Given the description of an element on the screen output the (x, y) to click on. 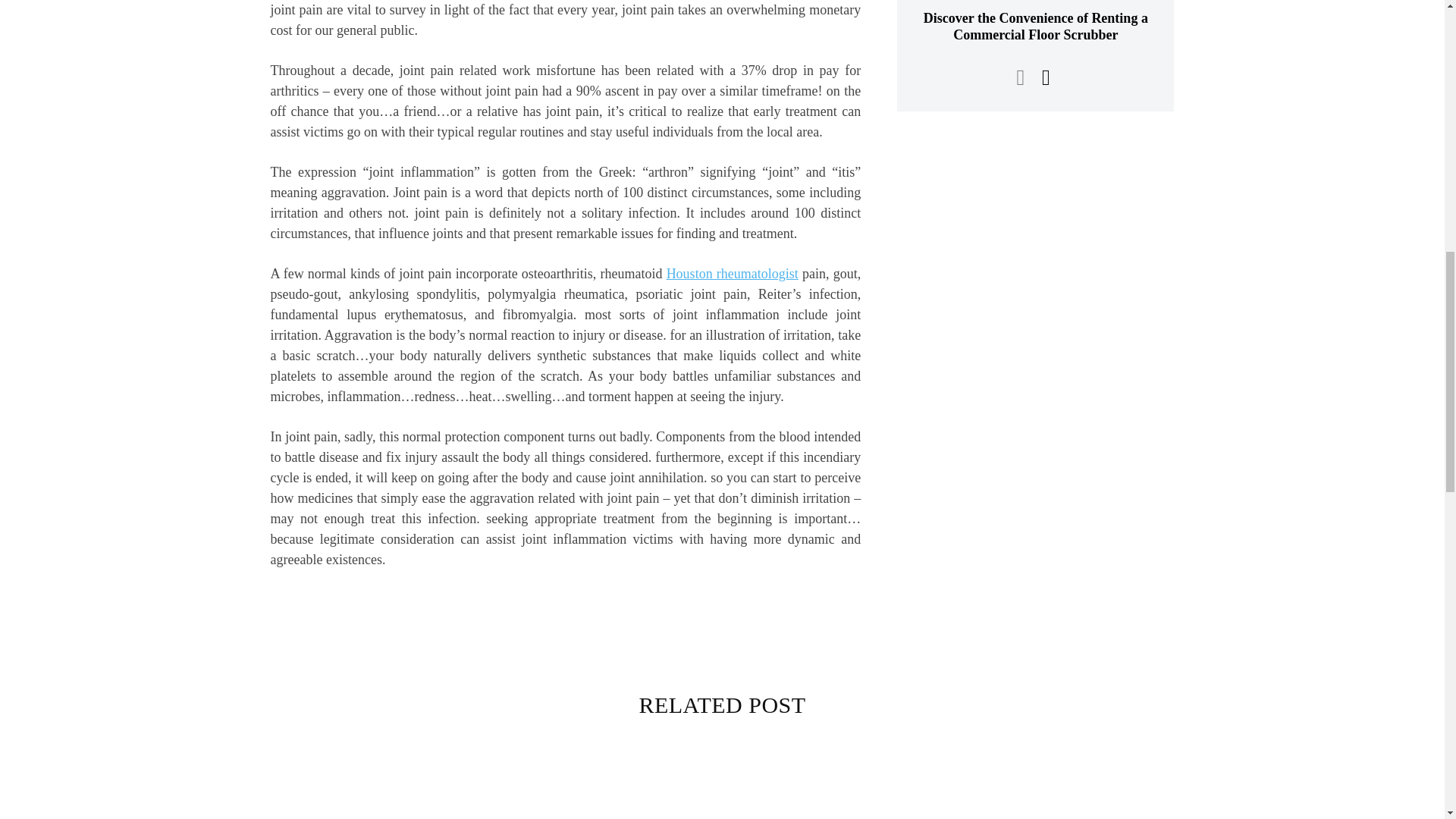
Houston rheumatologist (731, 273)
